Given the description of an element on the screen output the (x, y) to click on. 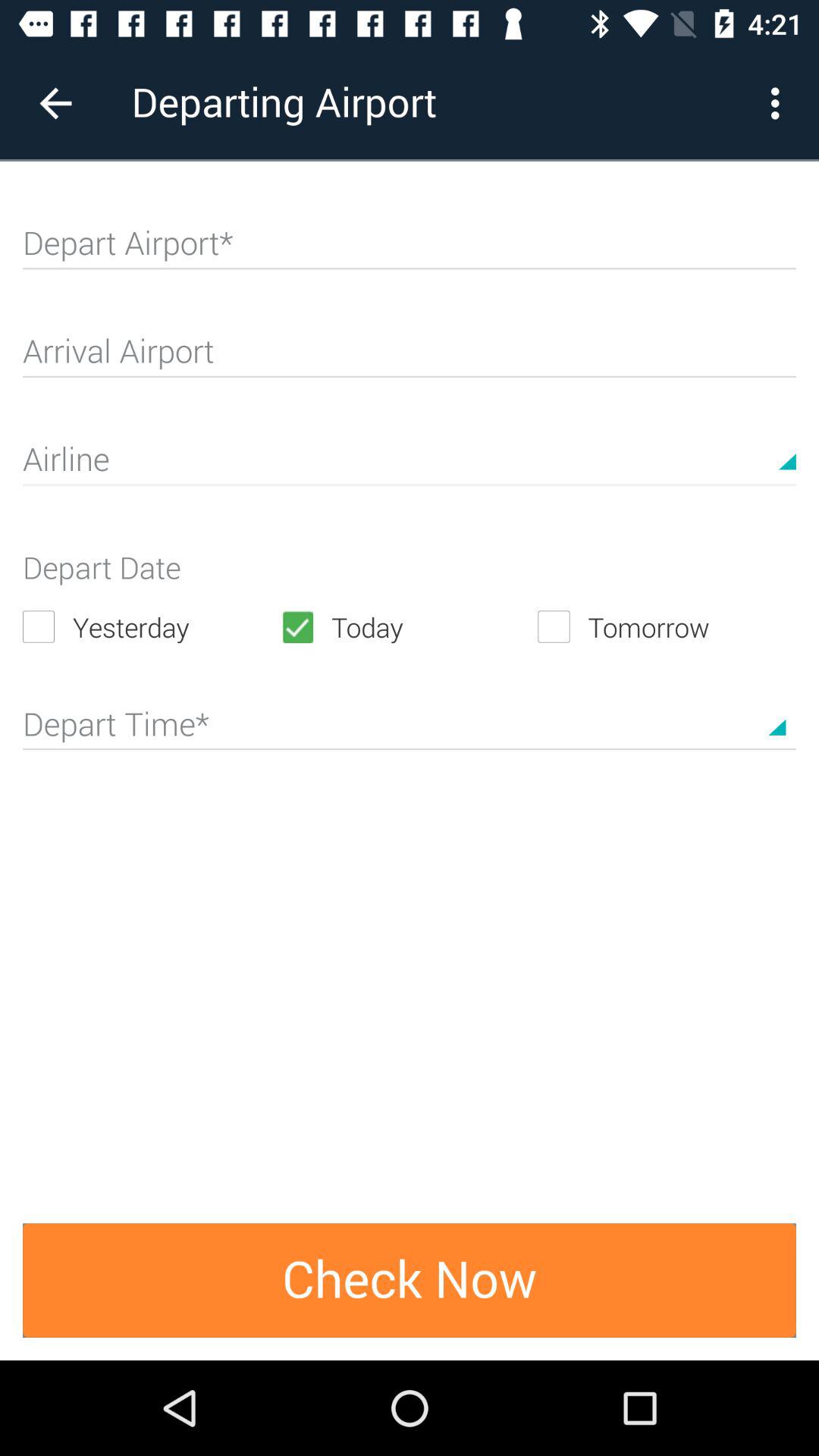
type airline to fly (409, 465)
